Given the description of an element on the screen output the (x, y) to click on. 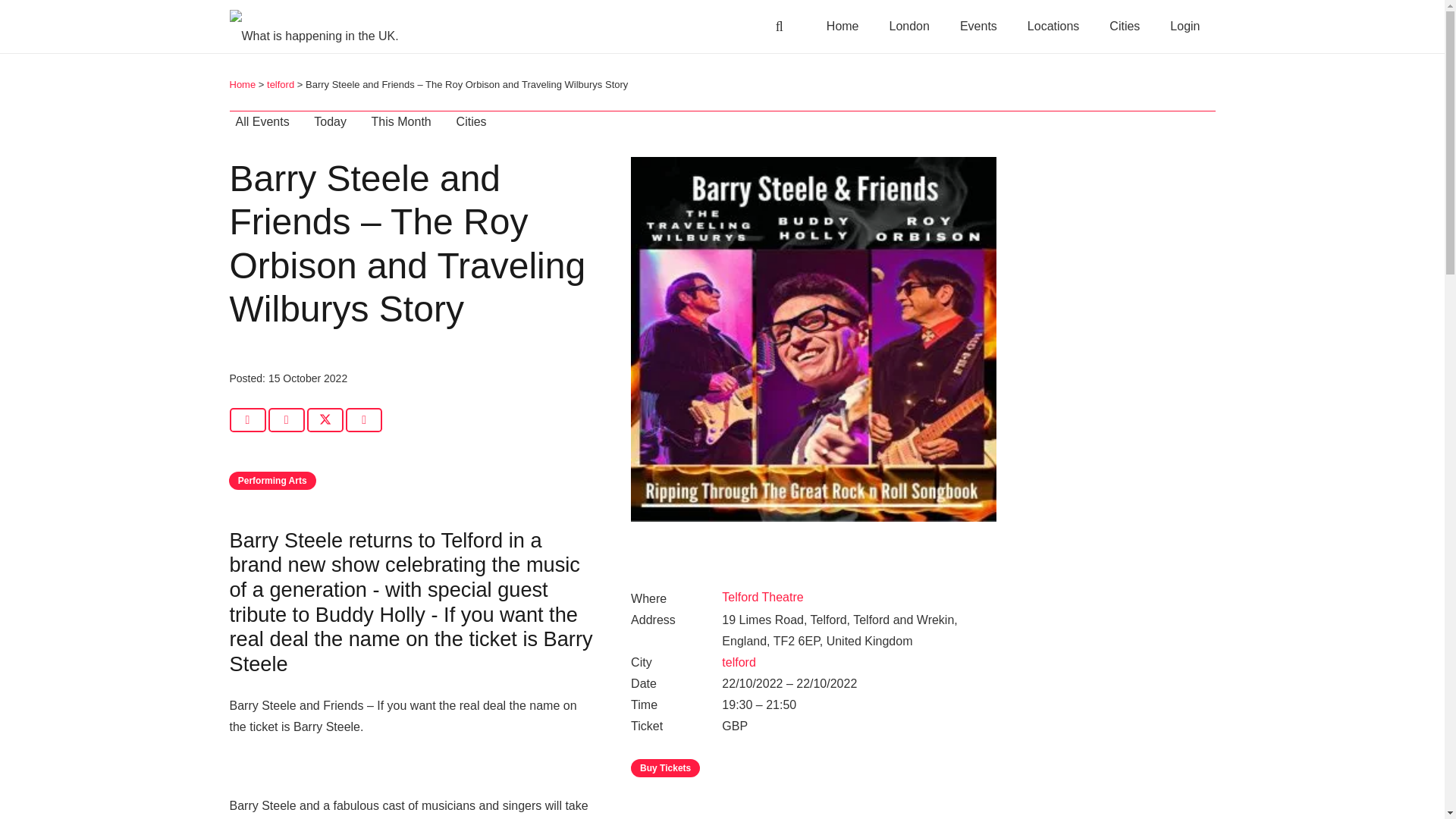
Login (1184, 26)
Home (242, 84)
Share this (285, 419)
London (909, 26)
Events (977, 26)
telford (280, 84)
Tweet this (325, 419)
Cities (1124, 26)
Today (330, 121)
Performing Arts (271, 480)
